Given the description of an element on the screen output the (x, y) to click on. 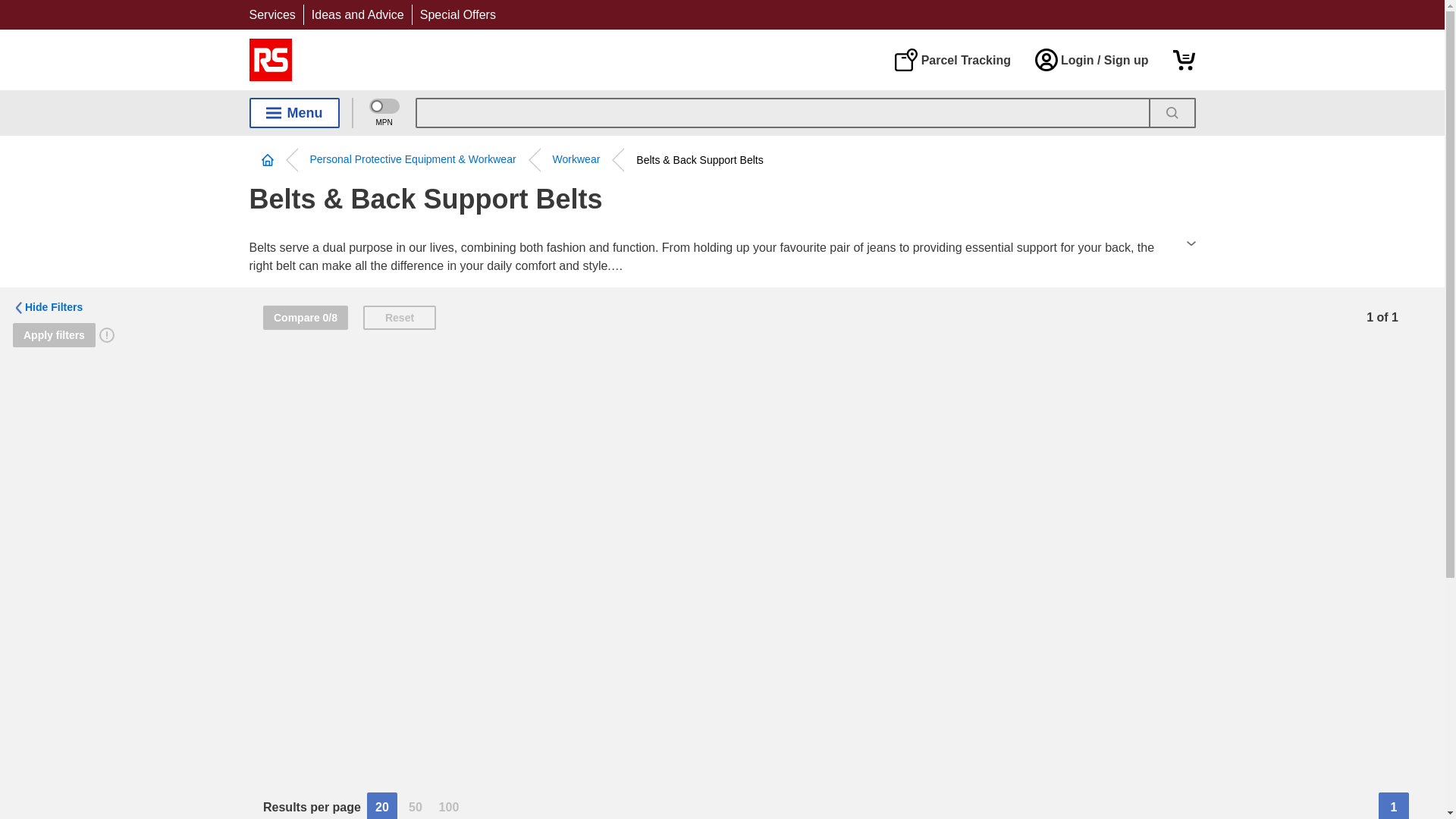
Menu (293, 112)
Services (271, 14)
Ideas and Advice (357, 14)
Parcel Tracking (951, 59)
Special Offers (458, 14)
